Given the description of an element on the screen output the (x, y) to click on. 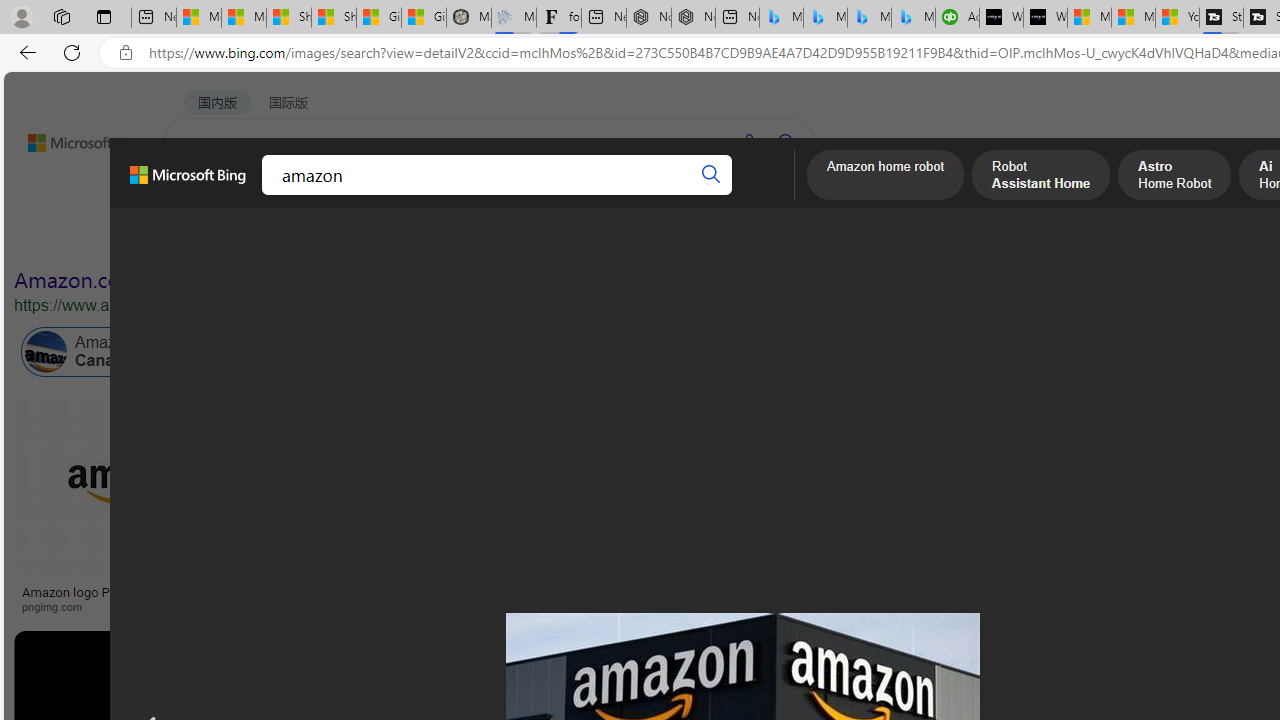
Layout (443, 237)
Streaming Coverage | T3 (1220, 17)
Manatee Mortality Statistics | FWC (468, 17)
Class: b_pri_nav_svg (336, 196)
Amazon Animals (706, 351)
usatoday.com (587, 605)
pngimg.com (133, 606)
What's the best AI voice generator? - voice.ai (1045, 17)
ACADEMIC (548, 195)
Listen: What's next for Amazon? (639, 592)
Amazon India (850, 351)
Listen: What's next for Amazon? (710, 592)
